Given the description of an element on the screen output the (x, y) to click on. 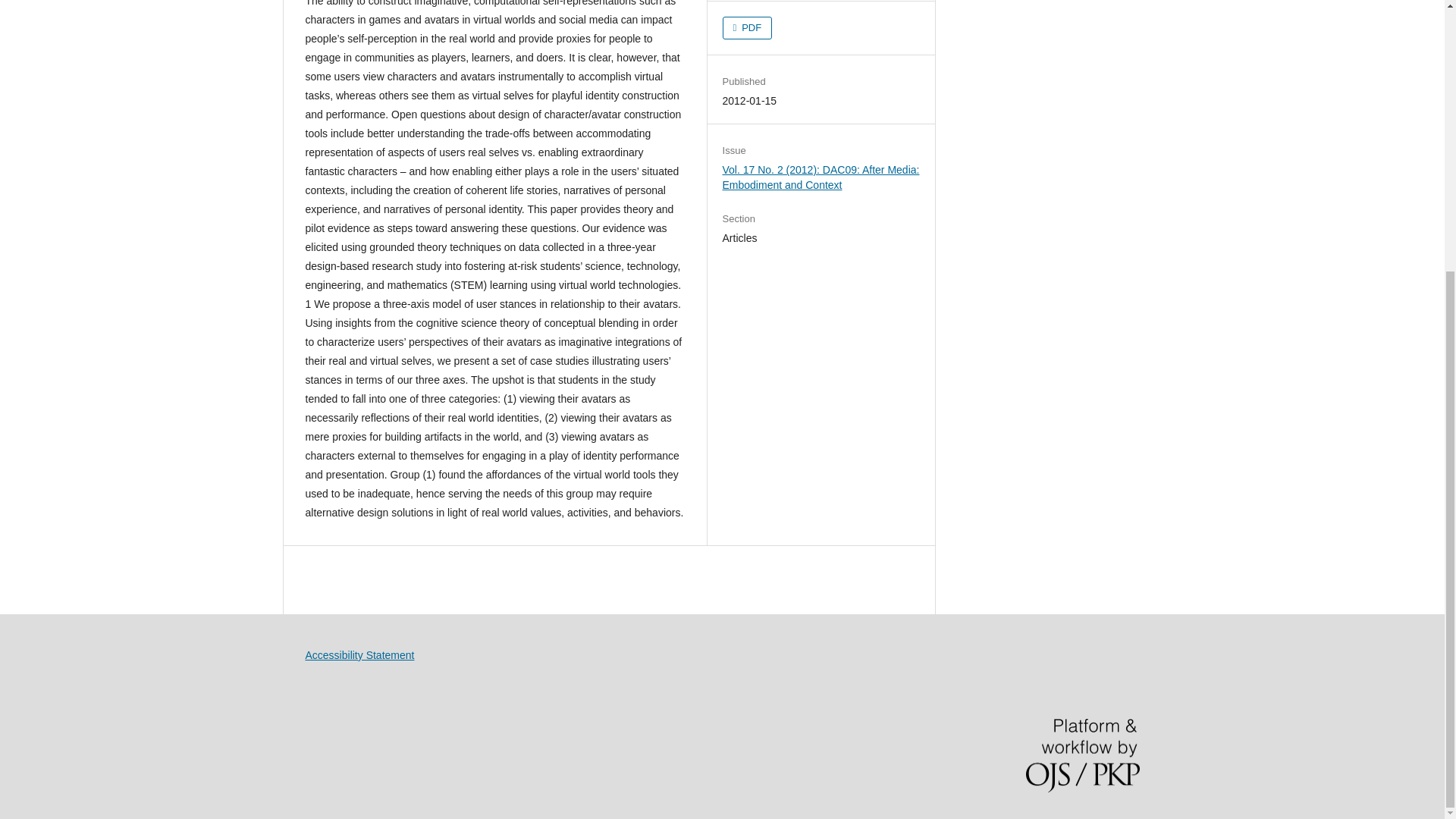
Accessibility Statement (358, 654)
PDF (747, 27)
Accessibility Statement (358, 654)
